Given the description of an element on the screen output the (x, y) to click on. 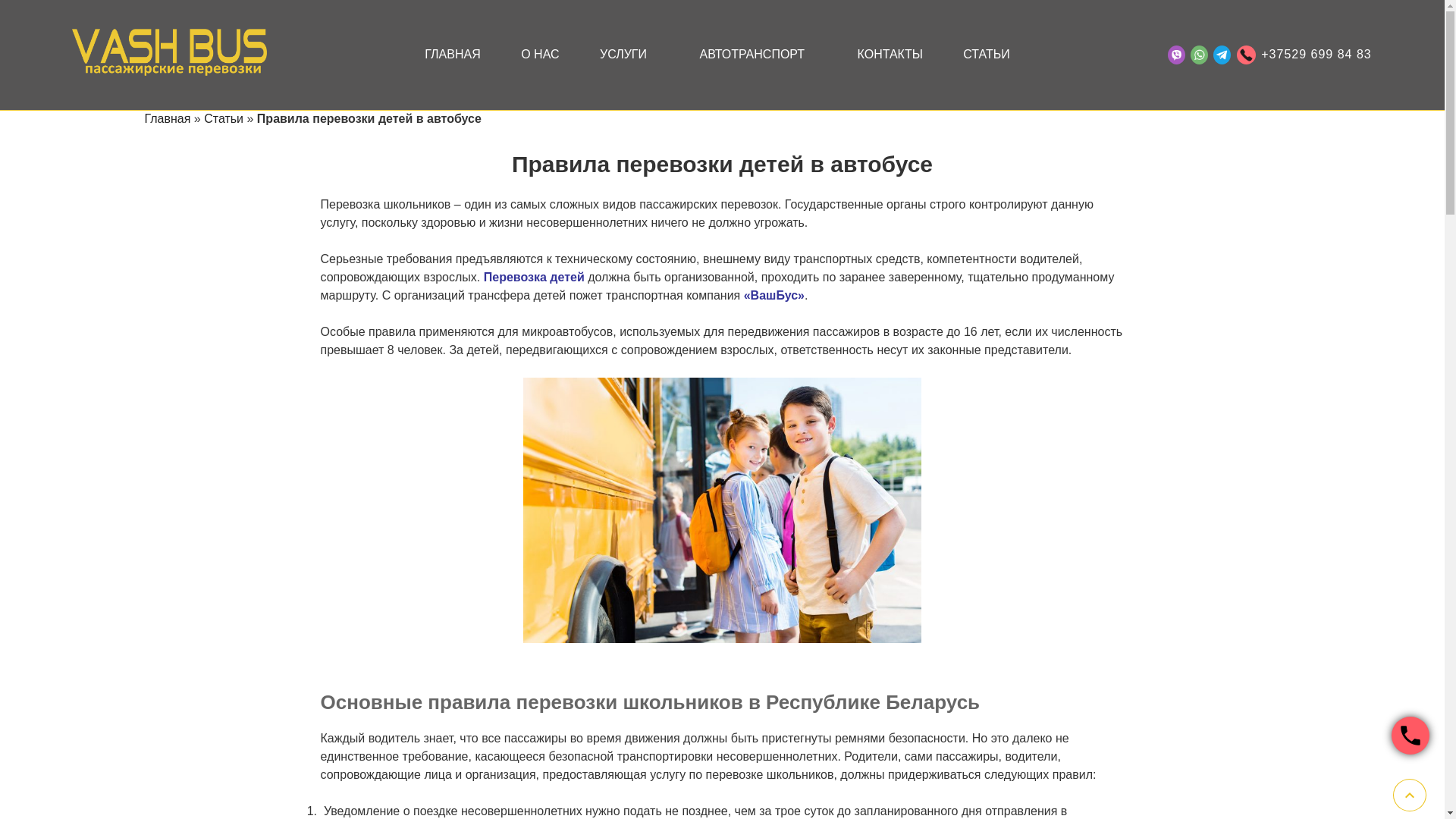
+37529 699 84 83 Element type: text (1301, 54)
phone Element type: text (1410, 735)
